Given the description of an element on the screen output the (x, y) to click on. 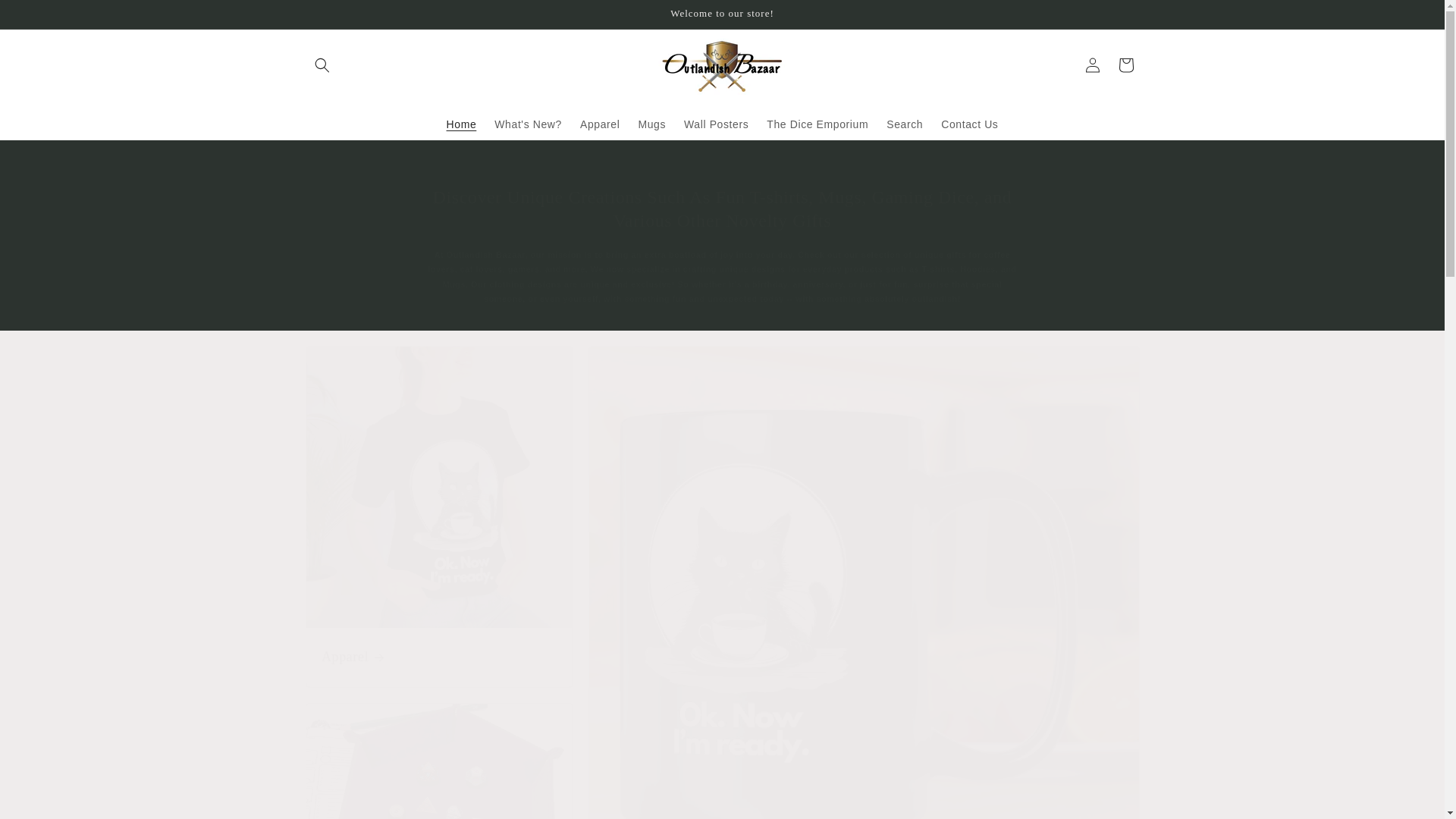
Apparel (438, 516)
The Dice Emporium (817, 123)
Search (904, 123)
Contact Us (969, 123)
Log in (1091, 64)
The Dice Emporium (438, 760)
What's New? (527, 123)
Skip to content (45, 17)
Home (462, 123)
Mugs (651, 123)
Apparel (599, 123)
Wall Posters (716, 123)
Apparel (439, 657)
Cart (1124, 64)
